Given the description of an element on the screen output the (x, y) to click on. 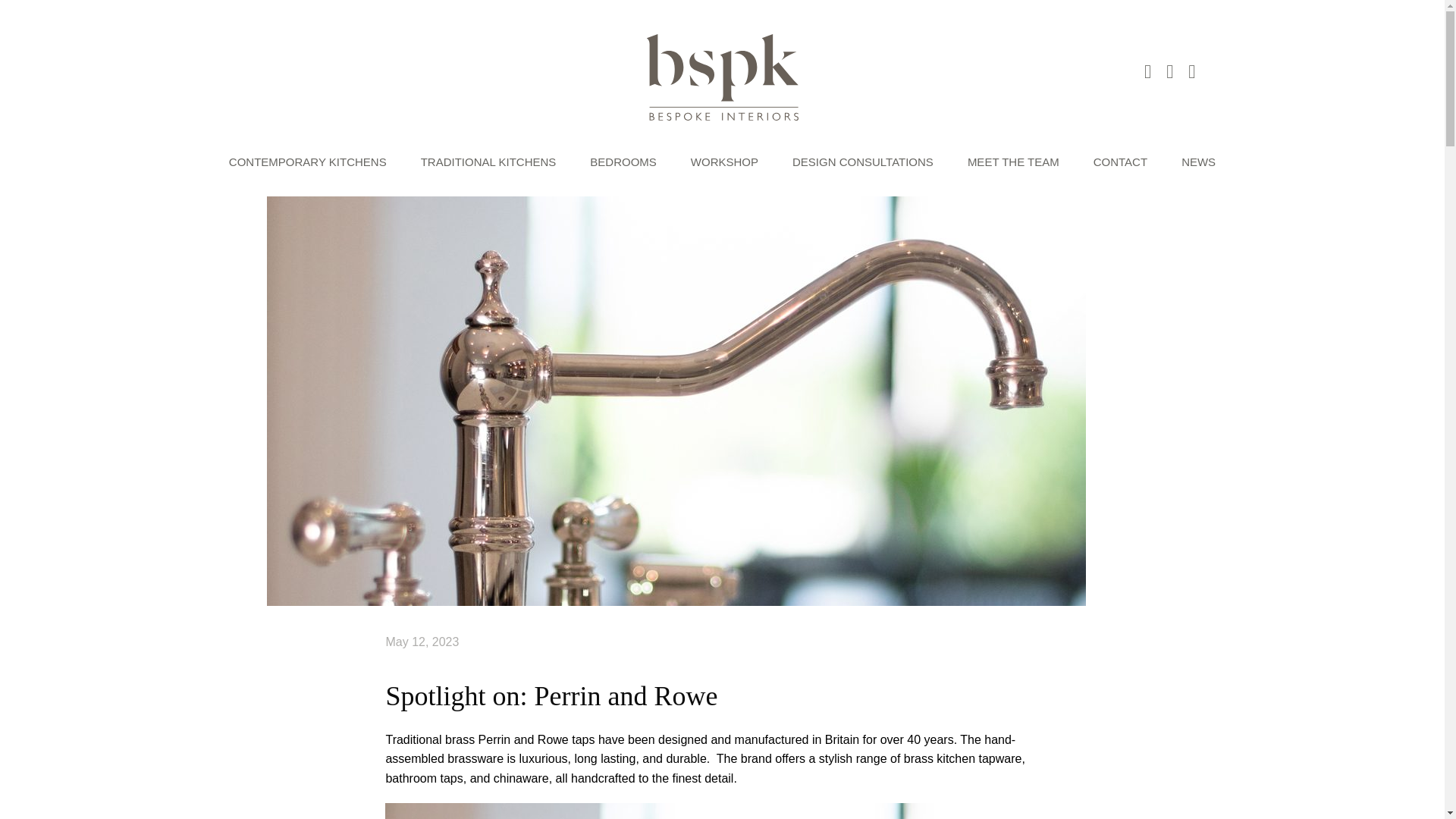
MEET THE TEAM (1013, 162)
TRADITIONAL KITCHENS (488, 162)
CONTACT (1120, 162)
perrin and rowe taps newcastle 2 (721, 811)
DESIGN CONSULTATIONS (862, 162)
WORKSHOP (724, 162)
BEDROOMS (622, 162)
CONTEMPORARY KITCHENS (307, 162)
